Given the description of an element on the screen output the (x, y) to click on. 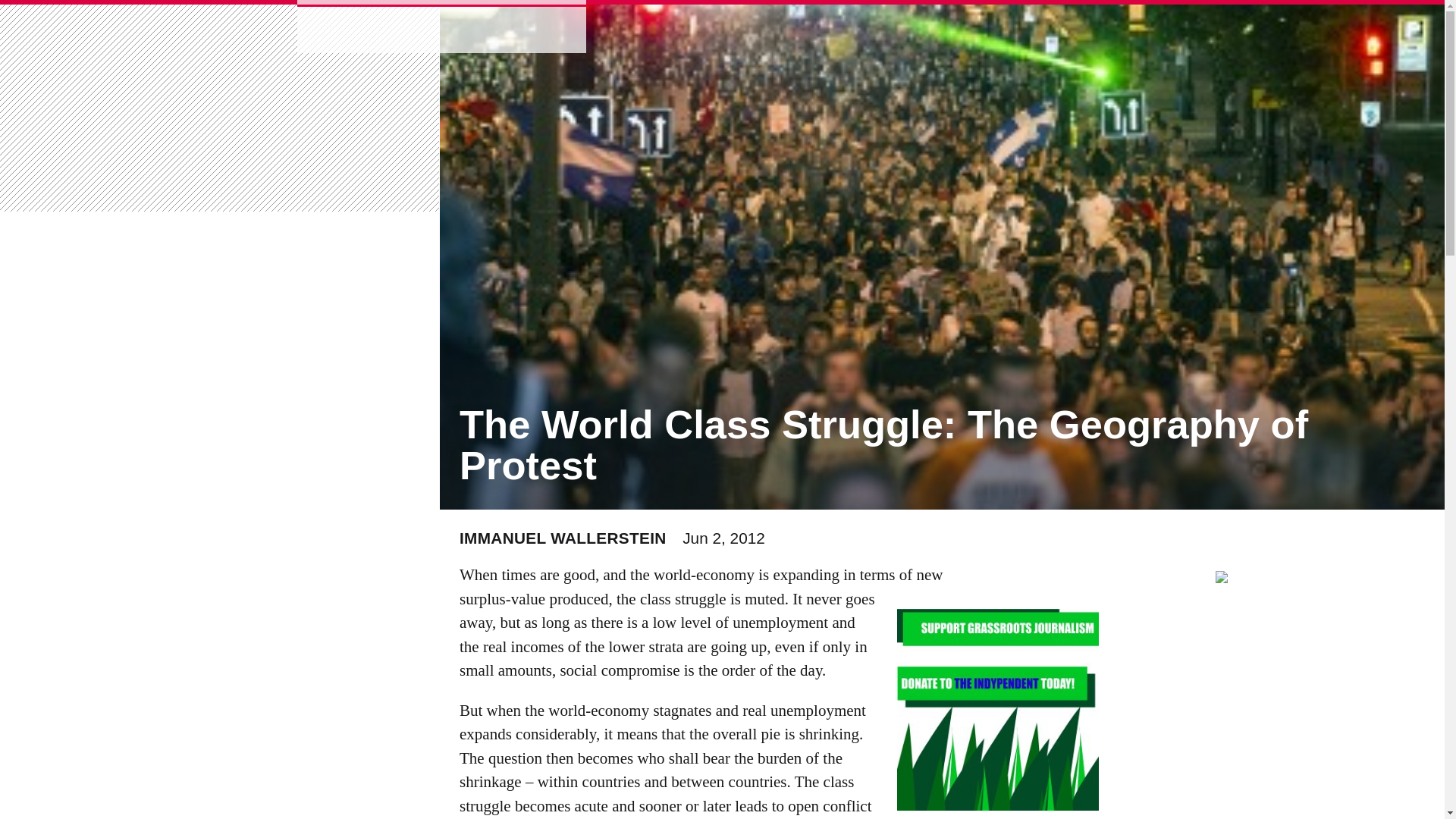
Search (52, 21)
IMMANUEL WALLERSTEIN (563, 538)
Menu (262, 29)
